Given the description of an element on the screen output the (x, y) to click on. 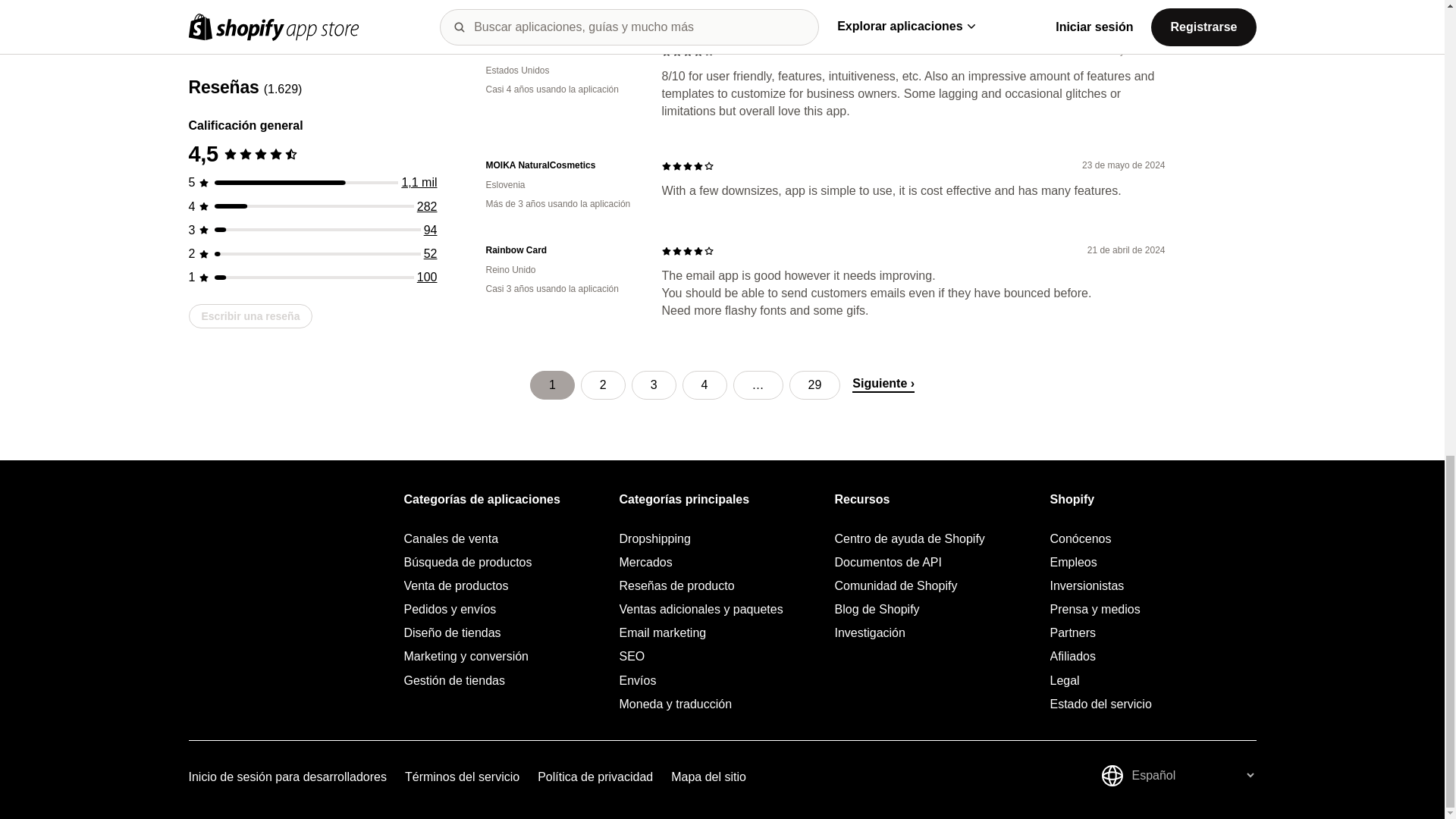
Rainbow Card (560, 250)
MOIKA NaturalCosmetics (560, 164)
